Given the description of an element on the screen output the (x, y) to click on. 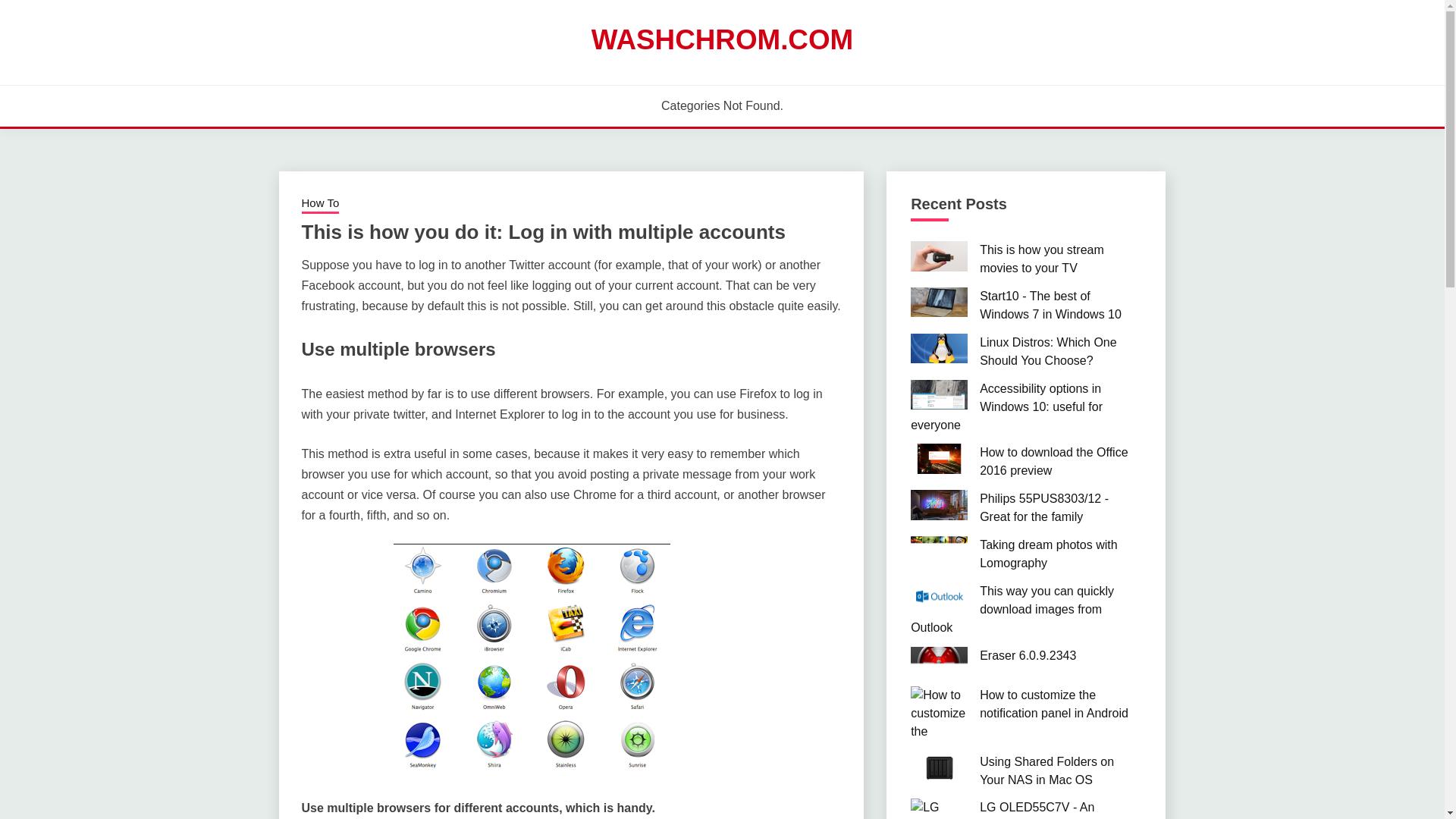
This way you can quickly download images from Outlook (1012, 608)
This is how you stream movies to your TV (1041, 258)
LG OLED55C7V - An excellent choice (1036, 809)
Using Shared Folders on Your NAS in Mac OS (1046, 770)
How to download the Office 2016 preview (1052, 460)
Start10 - The best of Windows 7 in Windows 10 (1050, 305)
Eraser 6.0.9.2343 (1027, 655)
How To (320, 204)
Taking dream photos with Lomography (1047, 553)
Linux Distros: Which One Should You Choose? (1047, 350)
